Given the description of an element on the screen output the (x, y) to click on. 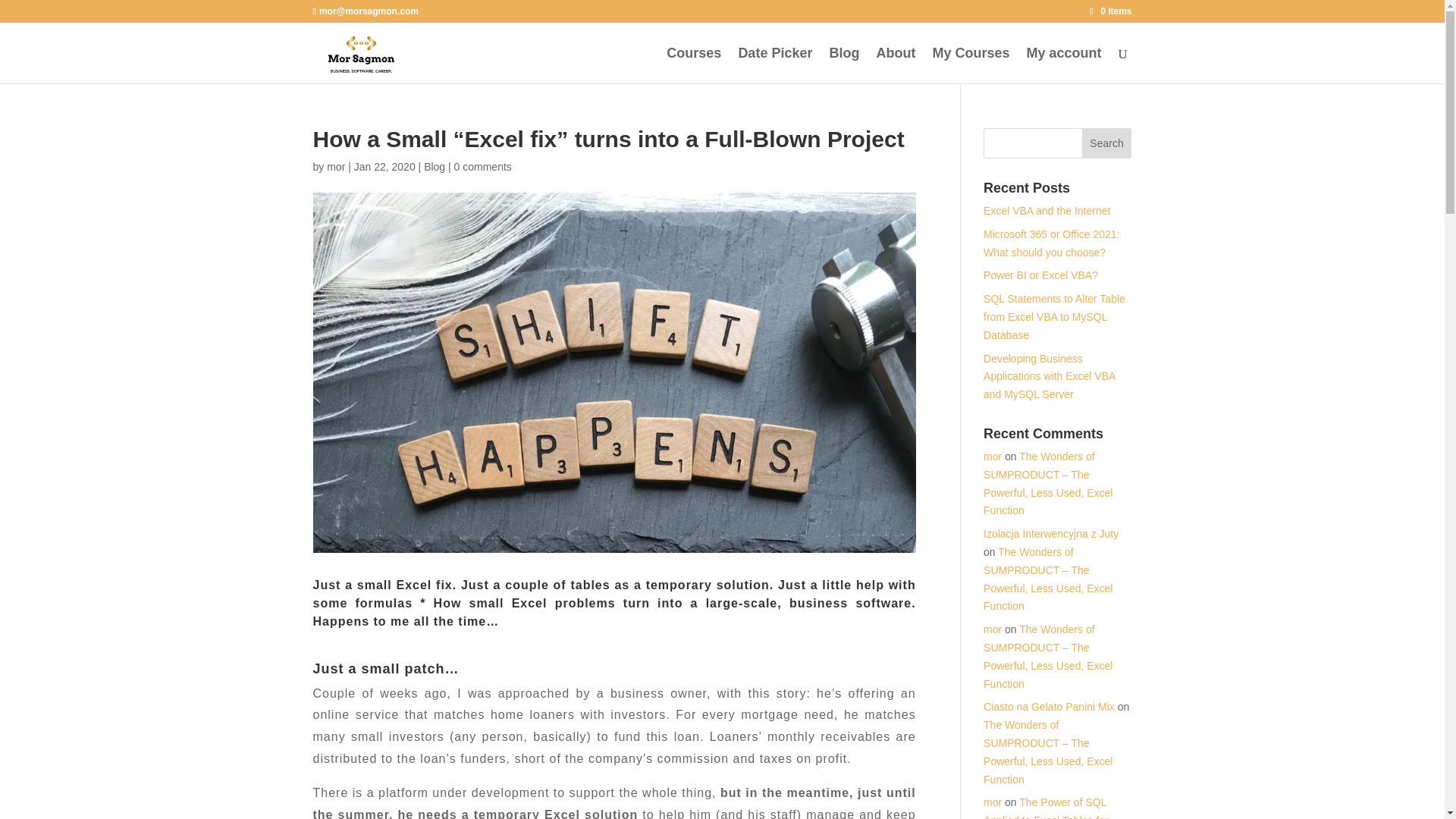
Search (1106, 142)
My account (1063, 65)
My Courses (970, 65)
About (895, 65)
mor (335, 166)
Izolacja Interwencyjna z Juty (1051, 533)
mor (992, 456)
Search (1106, 142)
Date Picker (775, 65)
